Given the description of an element on the screen output the (x, y) to click on. 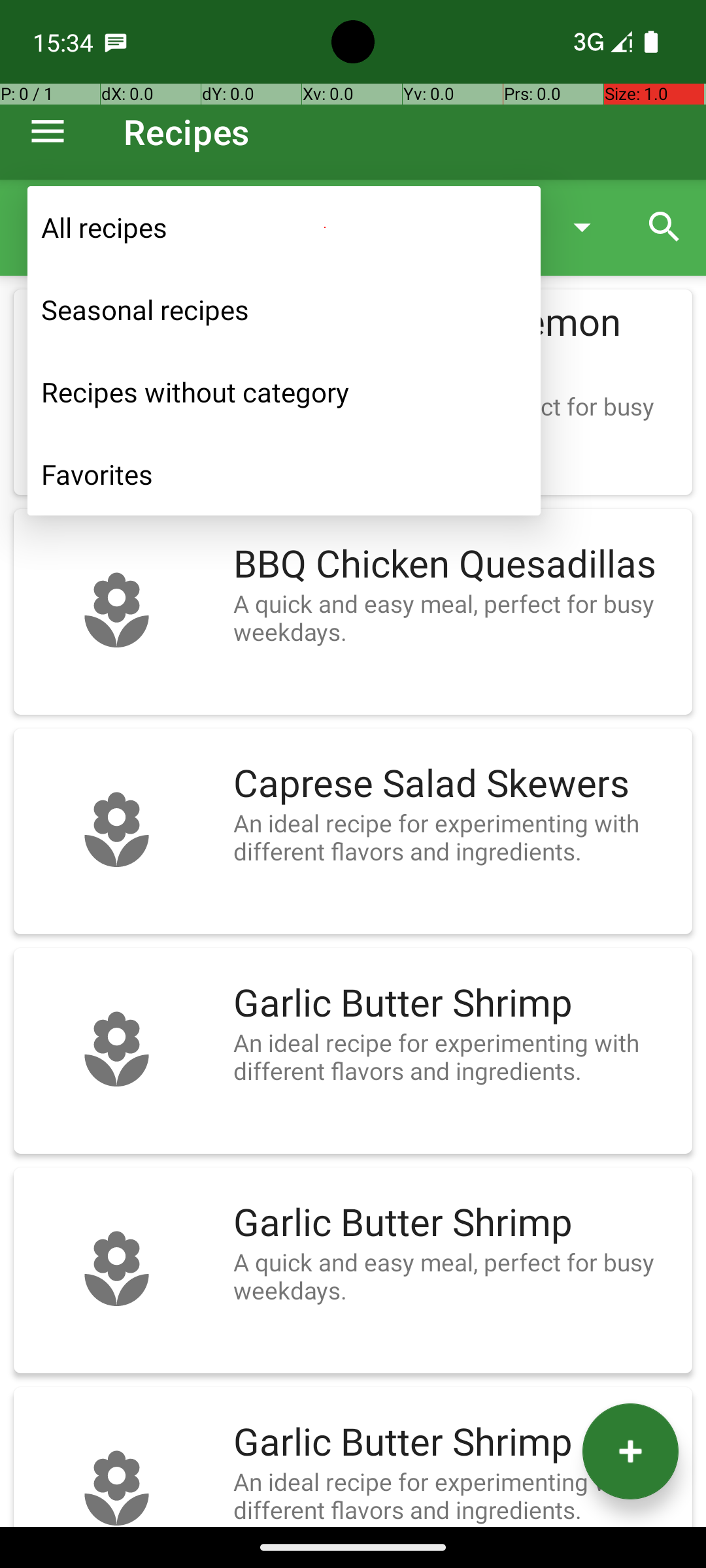
Seasonal recipes Element type: android.widget.CheckedTextView (283, 309)
Recipes without category Element type: android.widget.CheckedTextView (283, 391)
Favorites Element type: android.widget.CheckedTextView (283, 474)
